Given the description of an element on the screen output the (x, y) to click on. 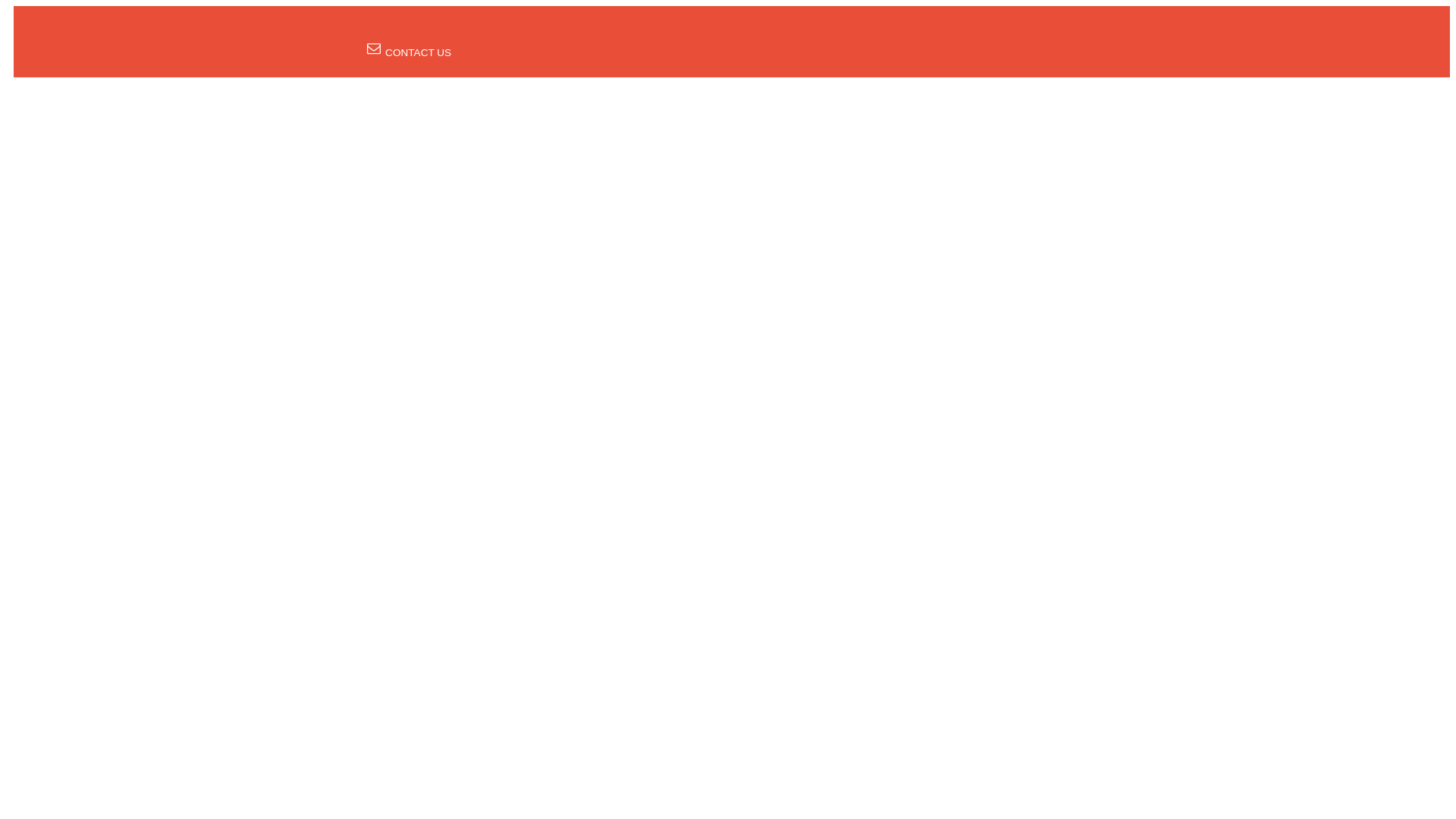
HOME (419, 30)
RECENTLY SEARCHED LOCATIONS (676, 30)
CONTACT US (408, 51)
SEARCH BY PIN CODE (511, 30)
